Given the description of an element on the screen output the (x, y) to click on. 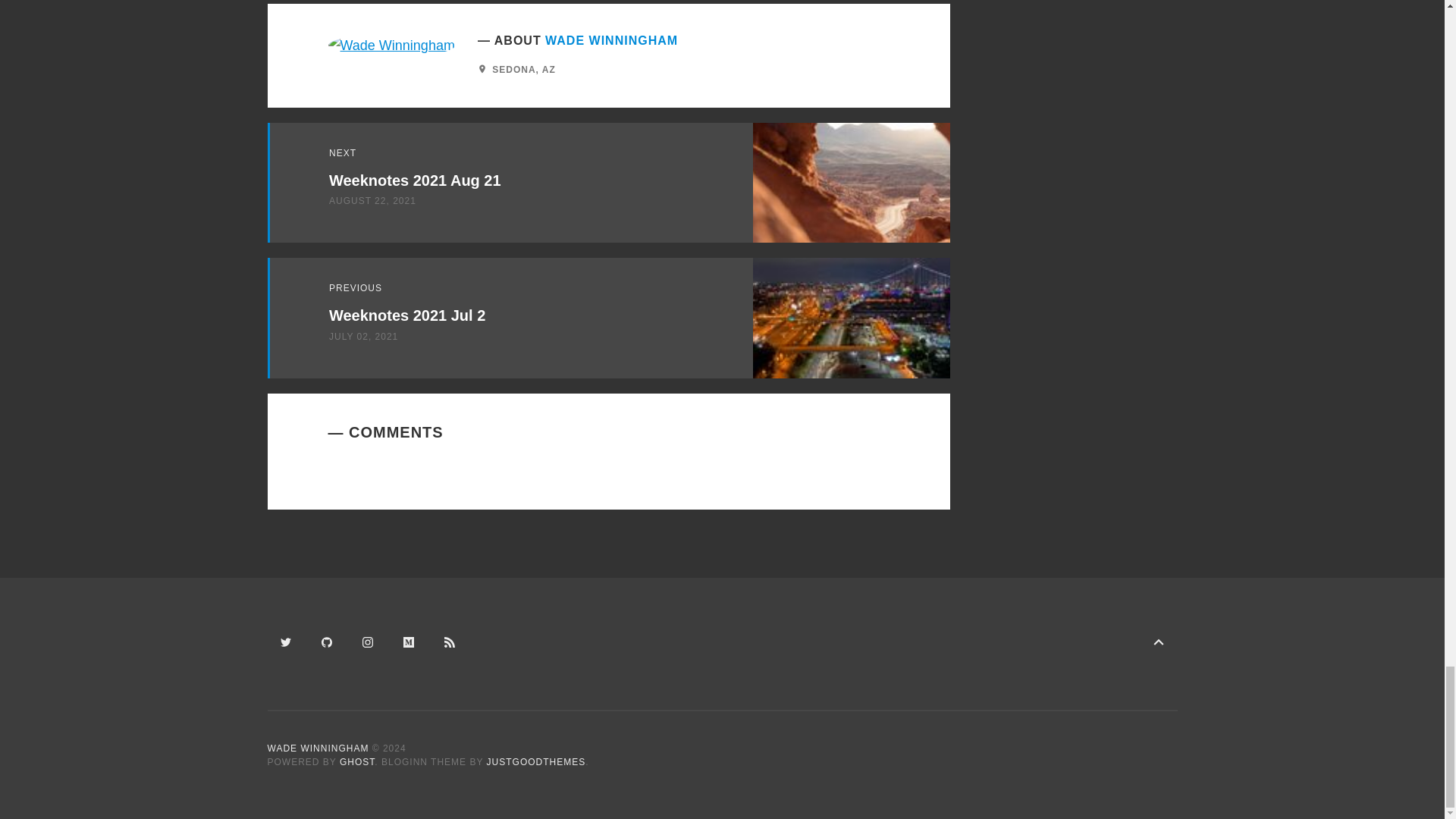
Weeknotes 2021 Jul 2 (406, 313)
TWITTER (285, 641)
WADE WINNINGHAM (611, 36)
Weeknotes 2021 Aug 21 (414, 176)
